Given the description of an element on the screen output the (x, y) to click on. 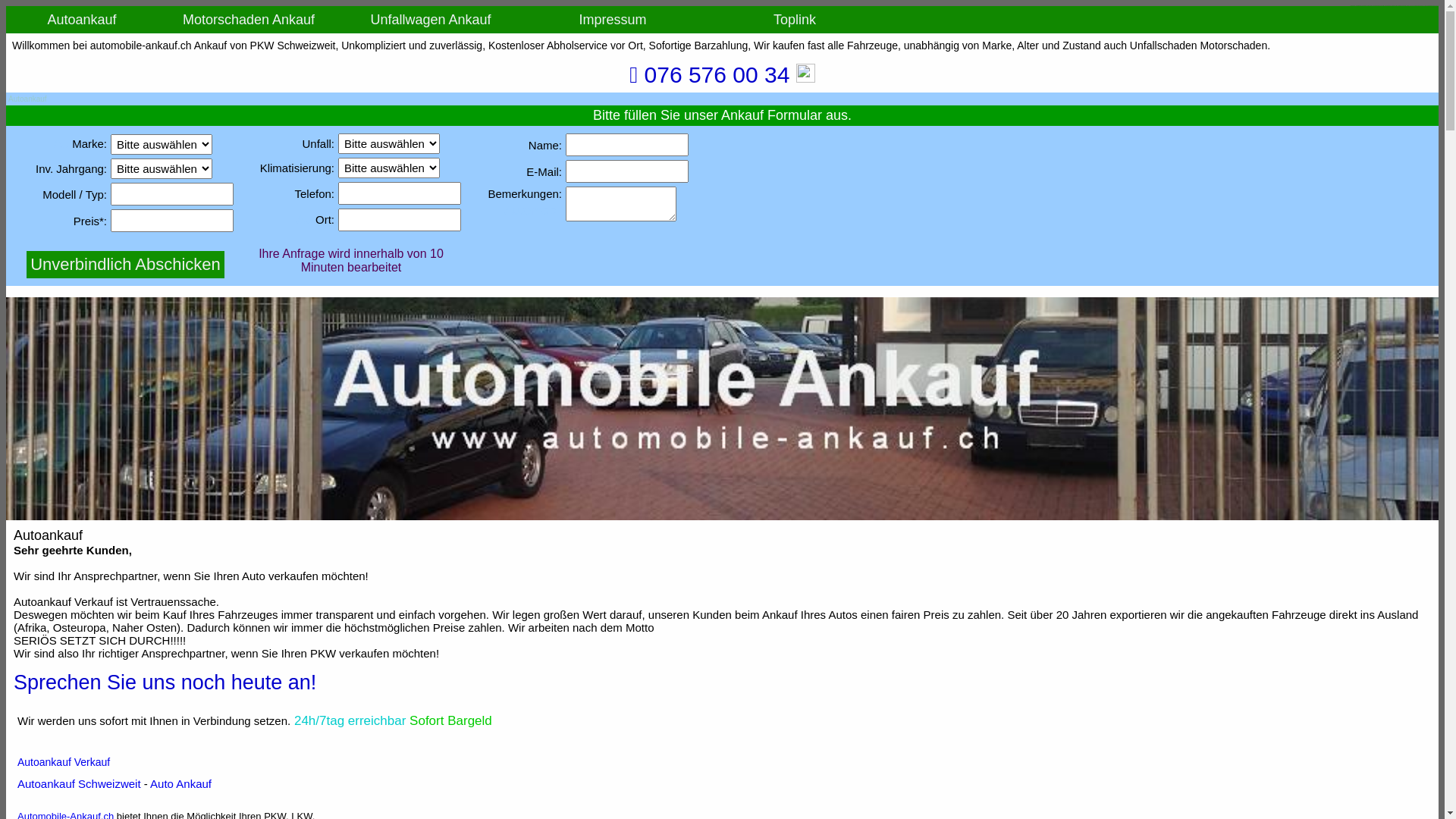
Unfallwagen Ankauf Element type: text (430, 19)
Motorschaden Ankauf Element type: text (248, 19)
Auto Ankauf Element type: text (180, 783)
Unverbindlich Abschicken Element type: text (125, 264)
Autoankauf Element type: text (81, 19)
Autoankauf Verkauf Element type: text (63, 762)
Toplink Element type: text (794, 19)
Impressum Element type: text (612, 19)
Autoankauf Schweizweit Element type: text (79, 783)
